Given the description of an element on the screen output the (x, y) to click on. 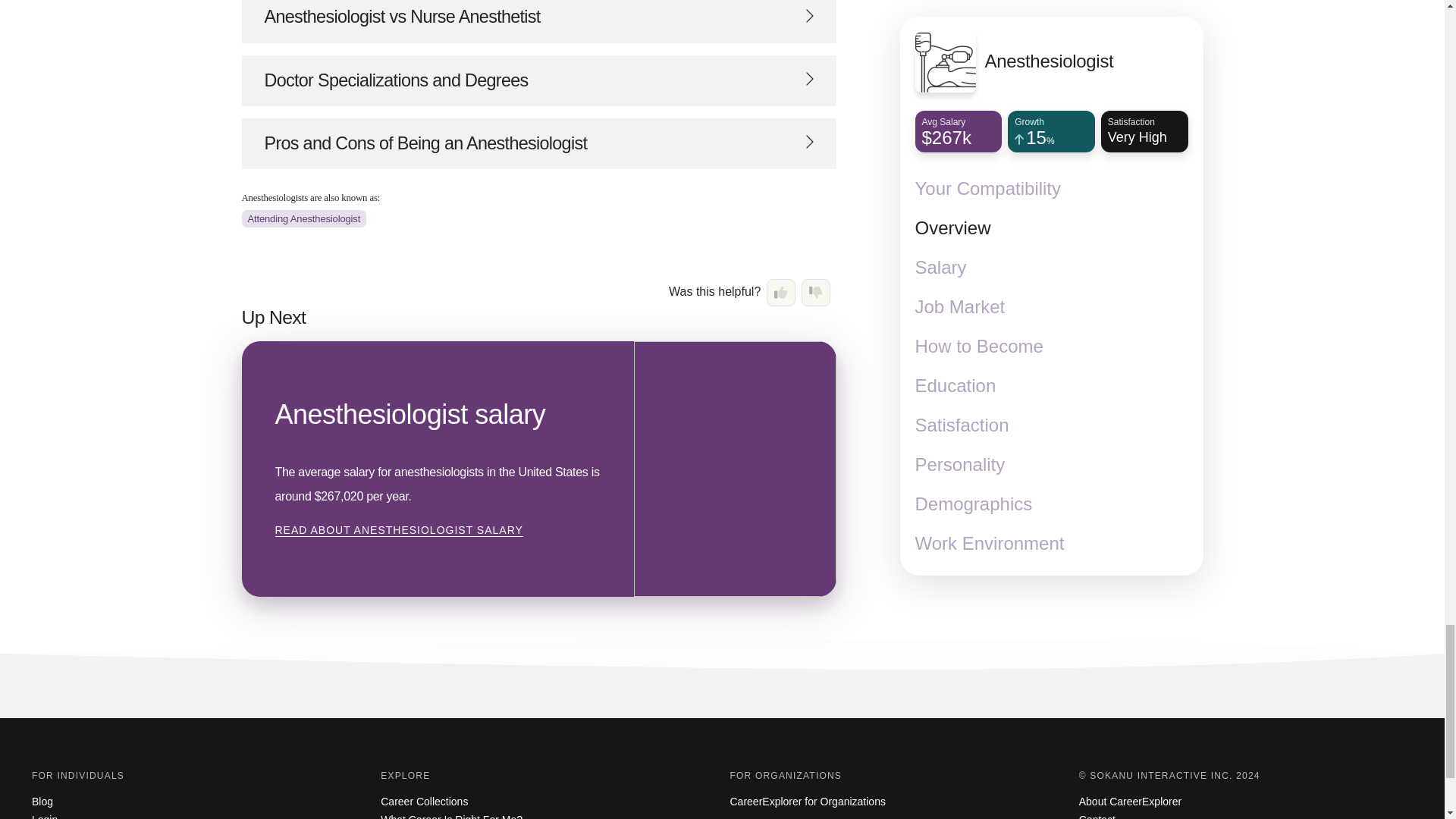
not interesting (815, 292)
interesting (780, 292)
